Given the description of an element on the screen output the (x, y) to click on. 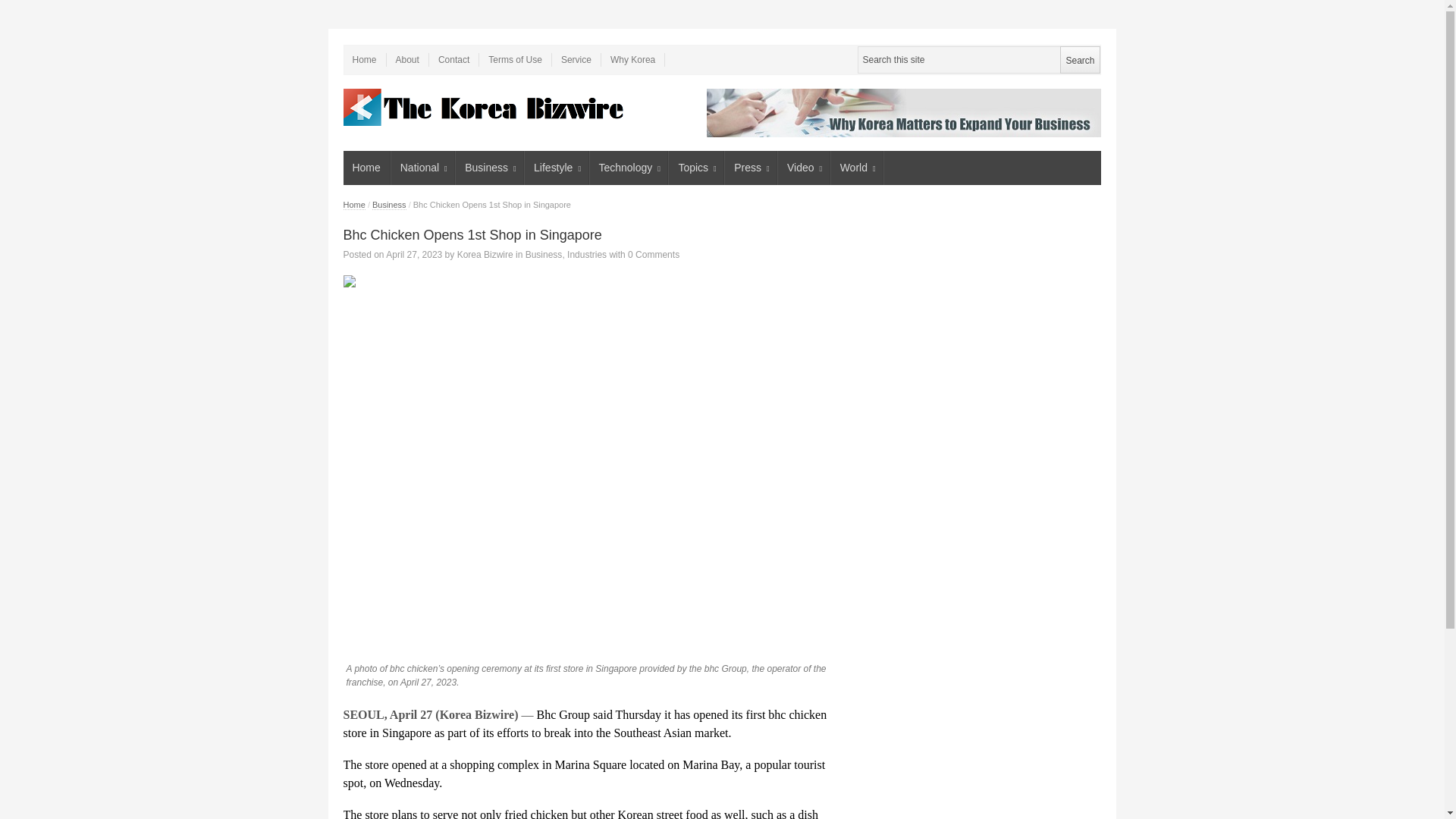
Be Korea-savvy (484, 107)
Home (363, 59)
Terms of Use (515, 59)
Service (576, 59)
About (408, 59)
2:12 am (413, 254)
Contact (454, 59)
View all posts in Business (389, 204)
View all posts by Korea Bizwire (485, 254)
Search this site (978, 59)
Print page (592, 281)
Search (1079, 59)
Why Korea (633, 59)
View all posts in Industries (587, 254)
Search (1079, 59)
